Given the description of an element on the screen output the (x, y) to click on. 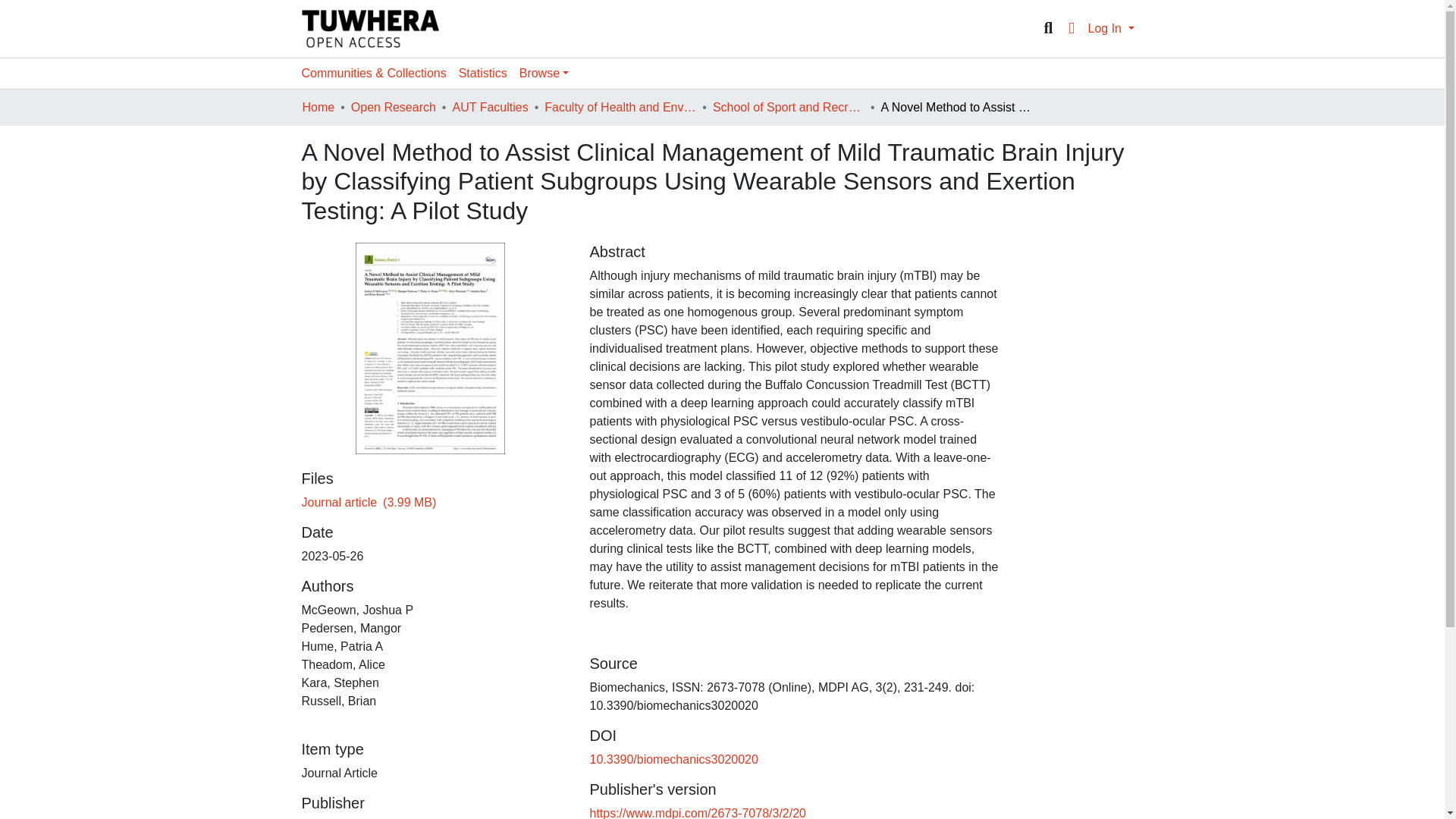
Statistics (482, 73)
School of Sport and Recreation (788, 107)
Search (1048, 28)
Browse (544, 73)
AUT Faculties (489, 107)
Statistics (482, 73)
Home (317, 107)
Faculty of Health and Environmental Sciences (619, 107)
Open Research (392, 107)
Language switch (1071, 28)
Log In (1110, 28)
